Given the description of an element on the screen output the (x, y) to click on. 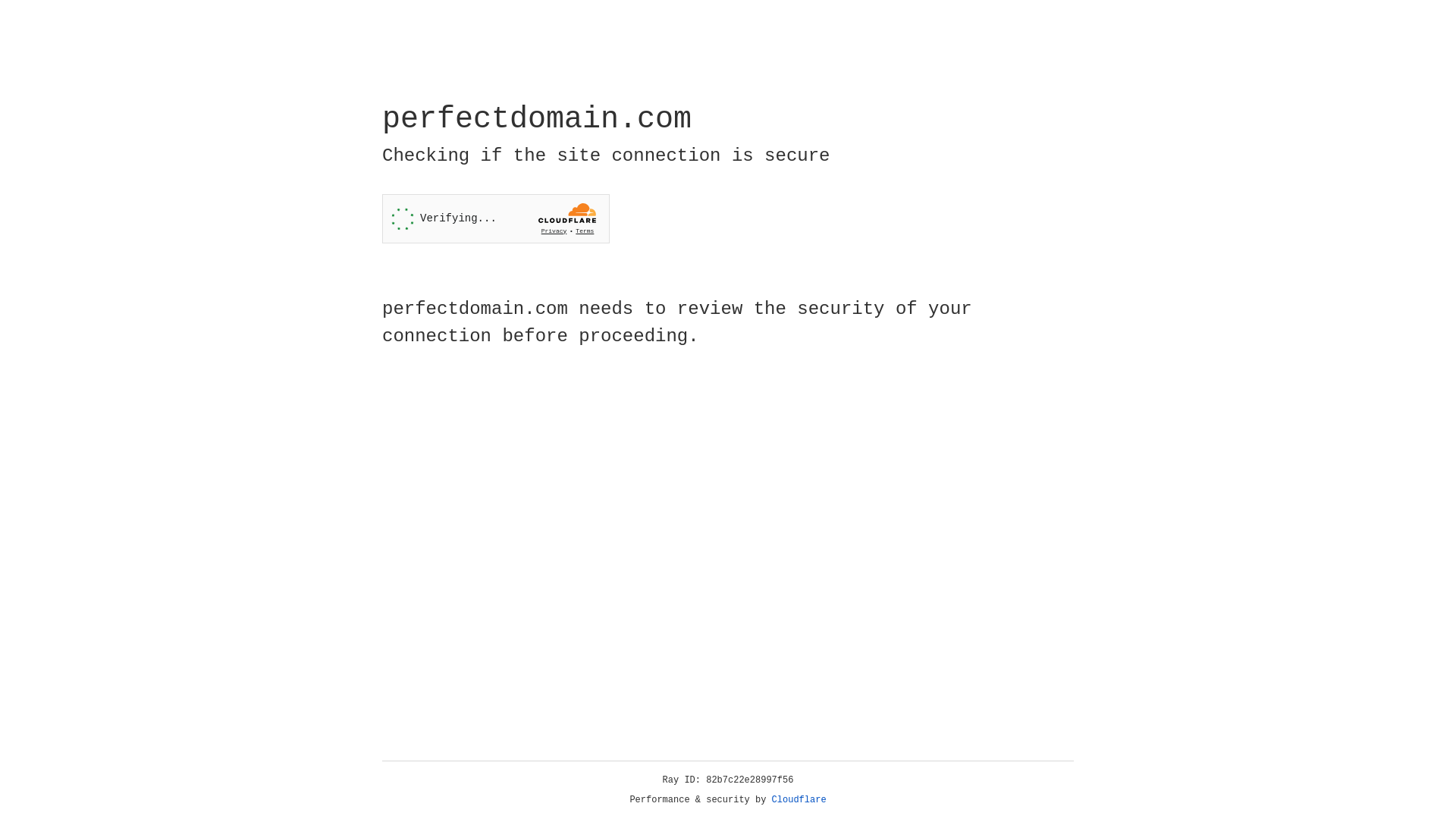
Widget containing a Cloudflare security challenge Element type: hover (495, 218)
Cloudflare Element type: text (798, 799)
